Given the description of an element on the screen output the (x, y) to click on. 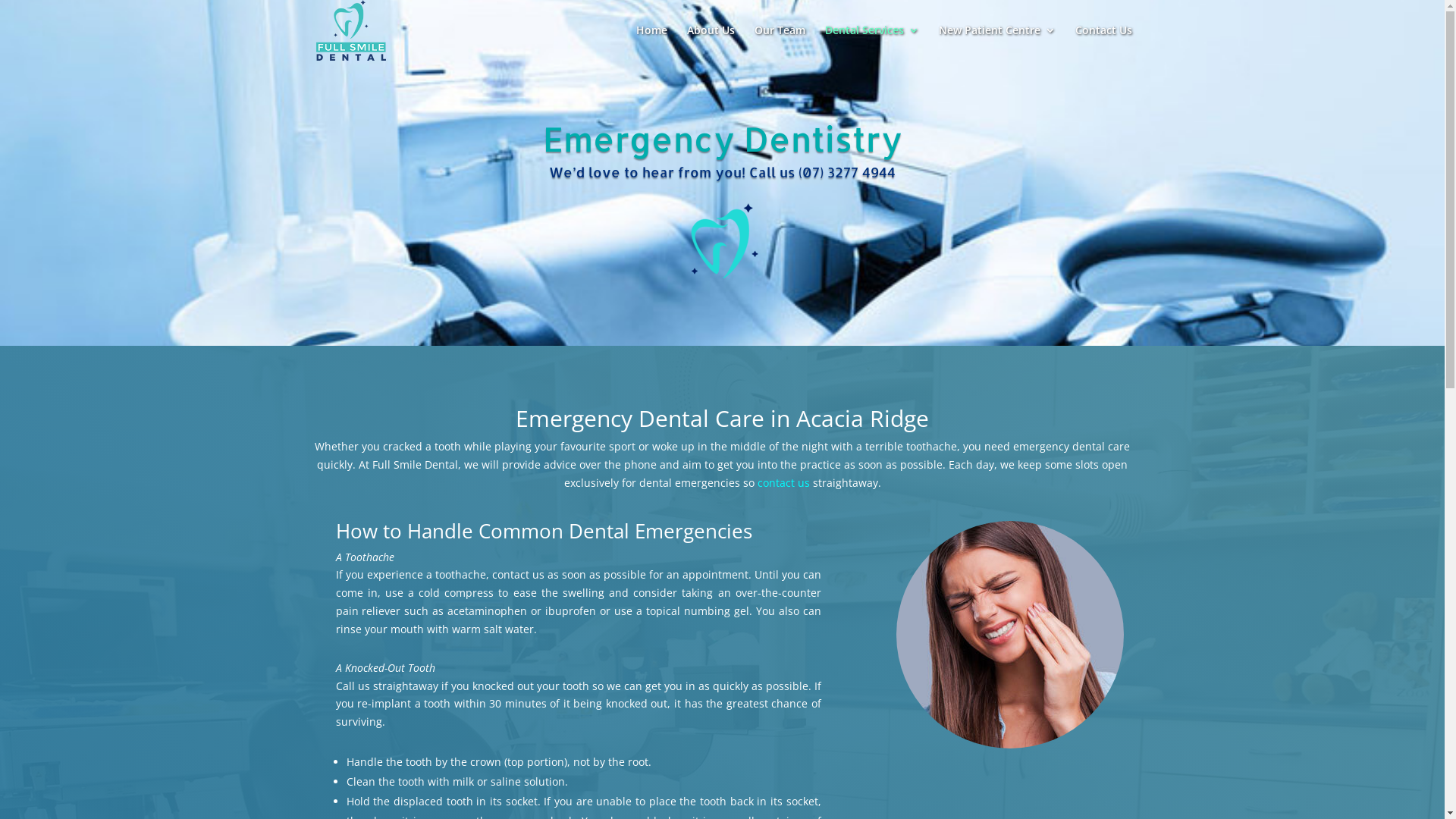
Home Element type: text (650, 42)
Our Team Element type: text (778, 42)
Dental Services Element type: text (872, 42)
Contact Us Element type: text (1103, 42)
New Patient Centre Element type: text (996, 42)
contact us Element type: text (782, 482)
About Us Element type: text (710, 42)
